Given the description of an element on the screen output the (x, y) to click on. 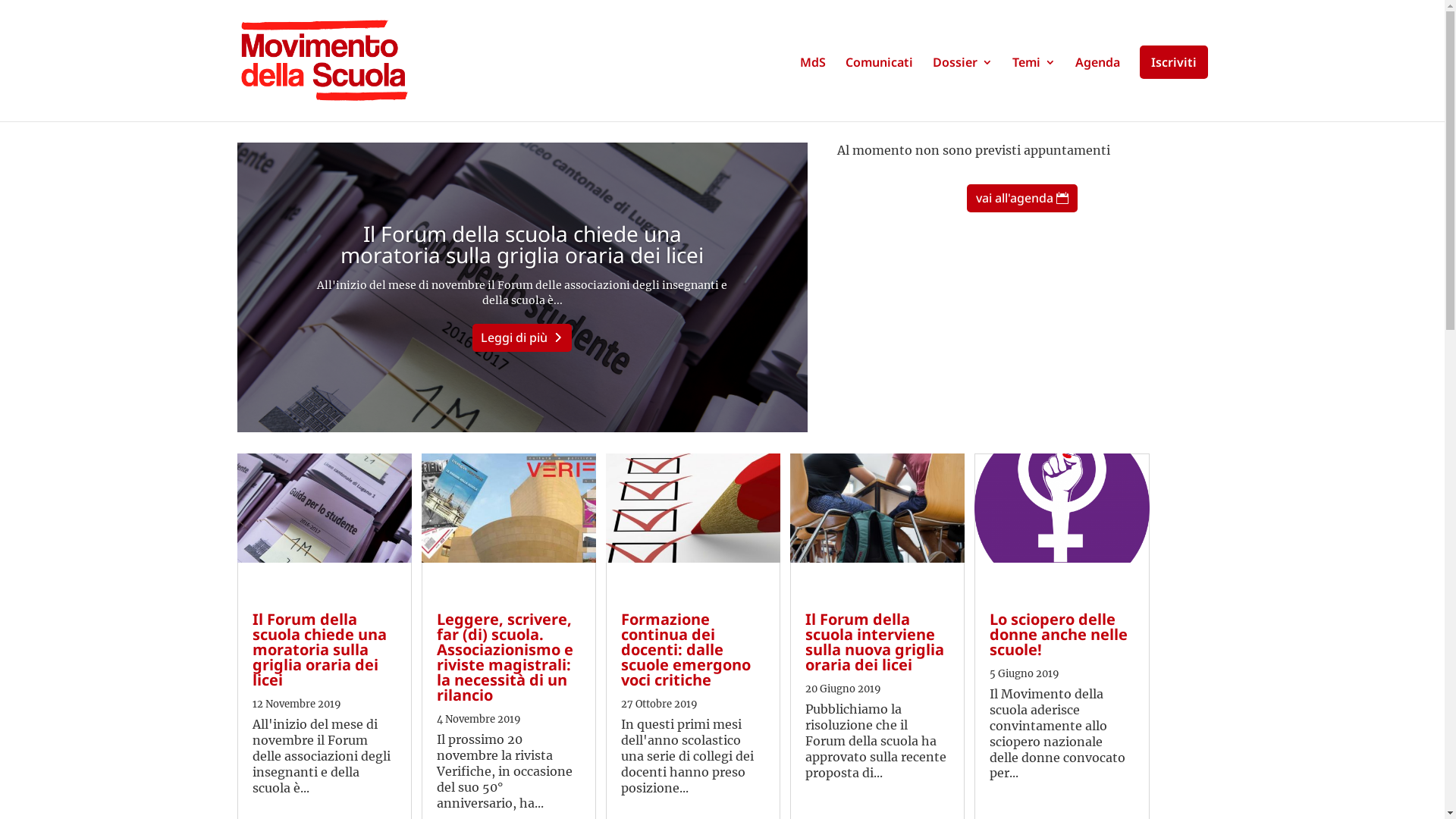
Iscriviti Element type: text (1173, 61)
Dossier Element type: text (962, 84)
Agenda Element type: text (1097, 84)
vai all'agenda Element type: text (1021, 198)
Temi Element type: text (1032, 84)
MdS Element type: text (812, 84)
Lo sciopero delle donne anche nelle scuole! Element type: text (1058, 633)
Comunicati Element type: text (878, 84)
